Given the description of an element on the screen output the (x, y) to click on. 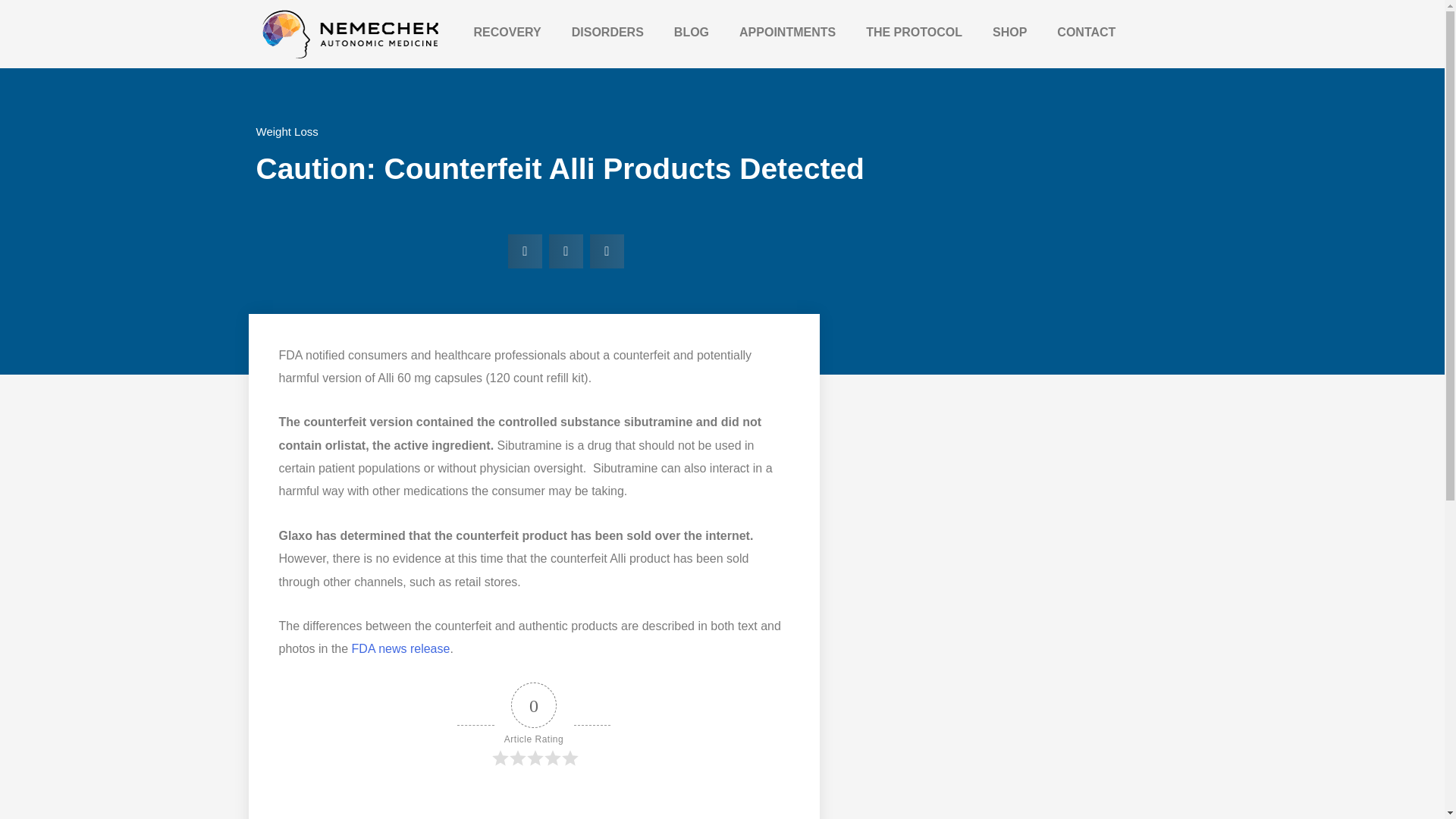
Chinese Simplified (898, 413)
German (861, 413)
Hindi (952, 413)
APPOINTMENTS (786, 32)
French (880, 413)
Japanese (916, 413)
Spanish (970, 413)
English (934, 413)
RECOVERY (507, 32)
DISORDERS (607, 32)
BLOG (691, 32)
